Given the description of an element on the screen output the (x, y) to click on. 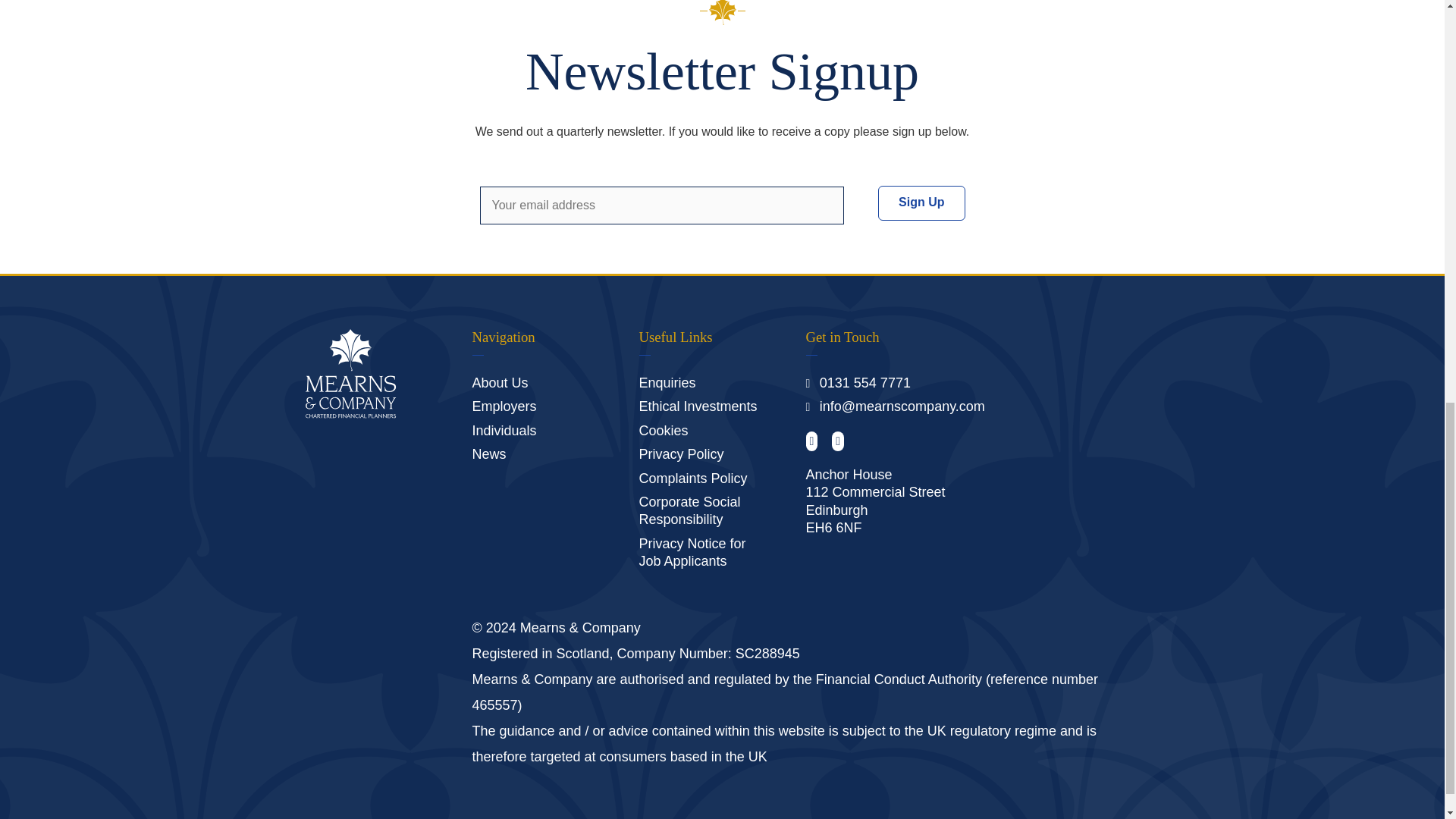
News (488, 453)
Enquiries (667, 382)
Cookies (663, 430)
Privacy Policy (681, 453)
Privacy Notice for Job Applicants (692, 552)
Individuals (503, 430)
Sign Up (920, 202)
Sign Up (920, 202)
Ethical Investments (698, 406)
Corporate Social Responsibility (689, 510)
Complaints Policy (692, 478)
Employers (503, 406)
0131 554 7771 (865, 382)
About Us (499, 382)
